Given the description of an element on the screen output the (x, y) to click on. 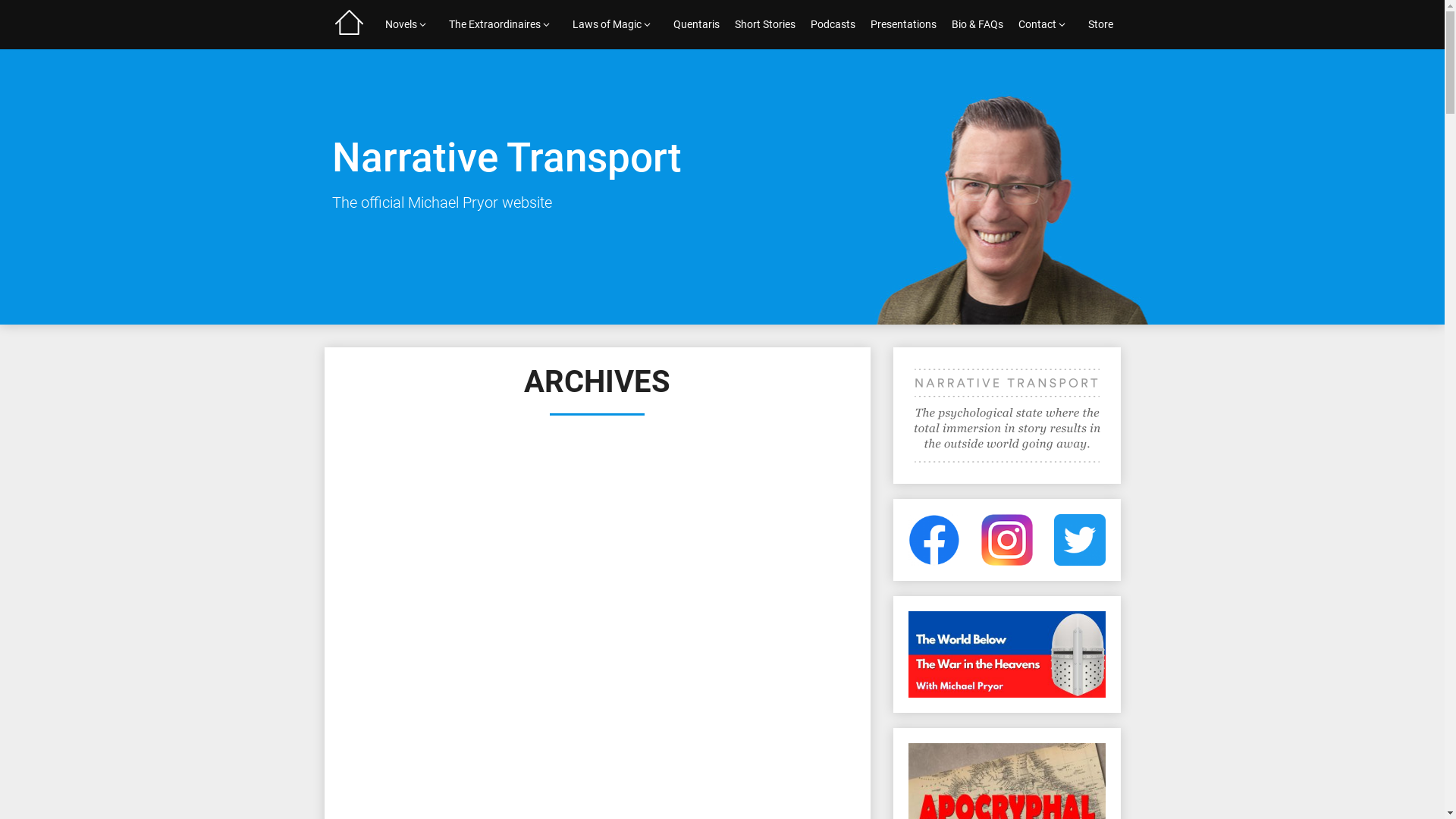
Store Element type: text (1099, 24)
Contact Element type: text (1044, 24)
Laws of Magic Element type: text (614, 24)
Podcasts Element type: text (832, 24)
Bio & FAQs Element type: text (976, 24)
Short Stories Element type: text (764, 24)
The Extraordinaires Element type: text (502, 24)
Presentations Element type: text (903, 24)
Novels Element type: text (413, 24)
Quentaris Element type: text (696, 24)
